Given the description of an element on the screen output the (x, y) to click on. 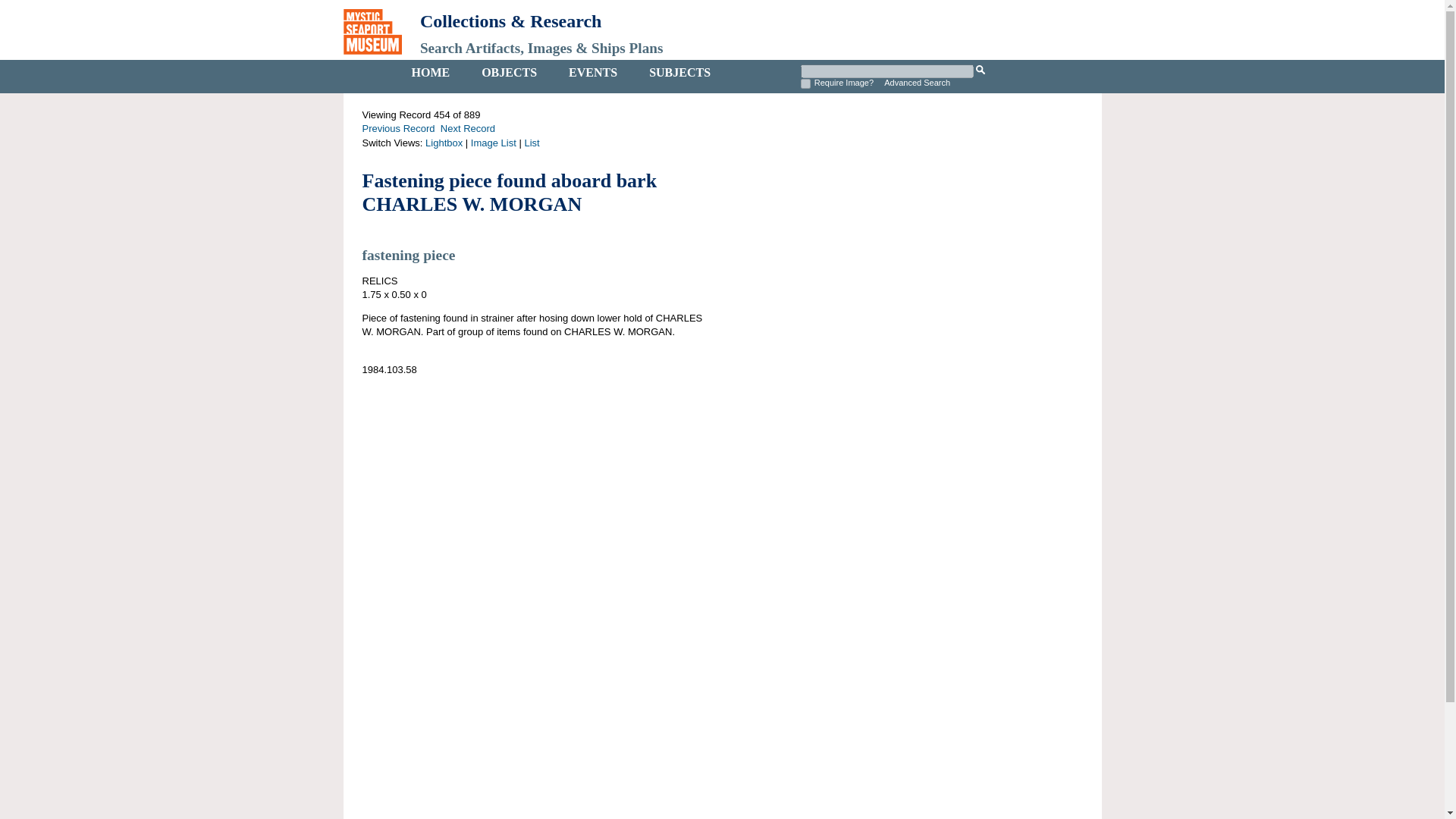
Next Record (468, 128)
Previous Record (398, 128)
Lightbox (444, 142)
HOME (430, 72)
List (531, 142)
yes (805, 83)
SUBJECTS (679, 72)
Advanced Search (916, 82)
Image List (493, 142)
EVENTS (592, 72)
OBJECTS (508, 72)
